Given the description of an element on the screen output the (x, y) to click on. 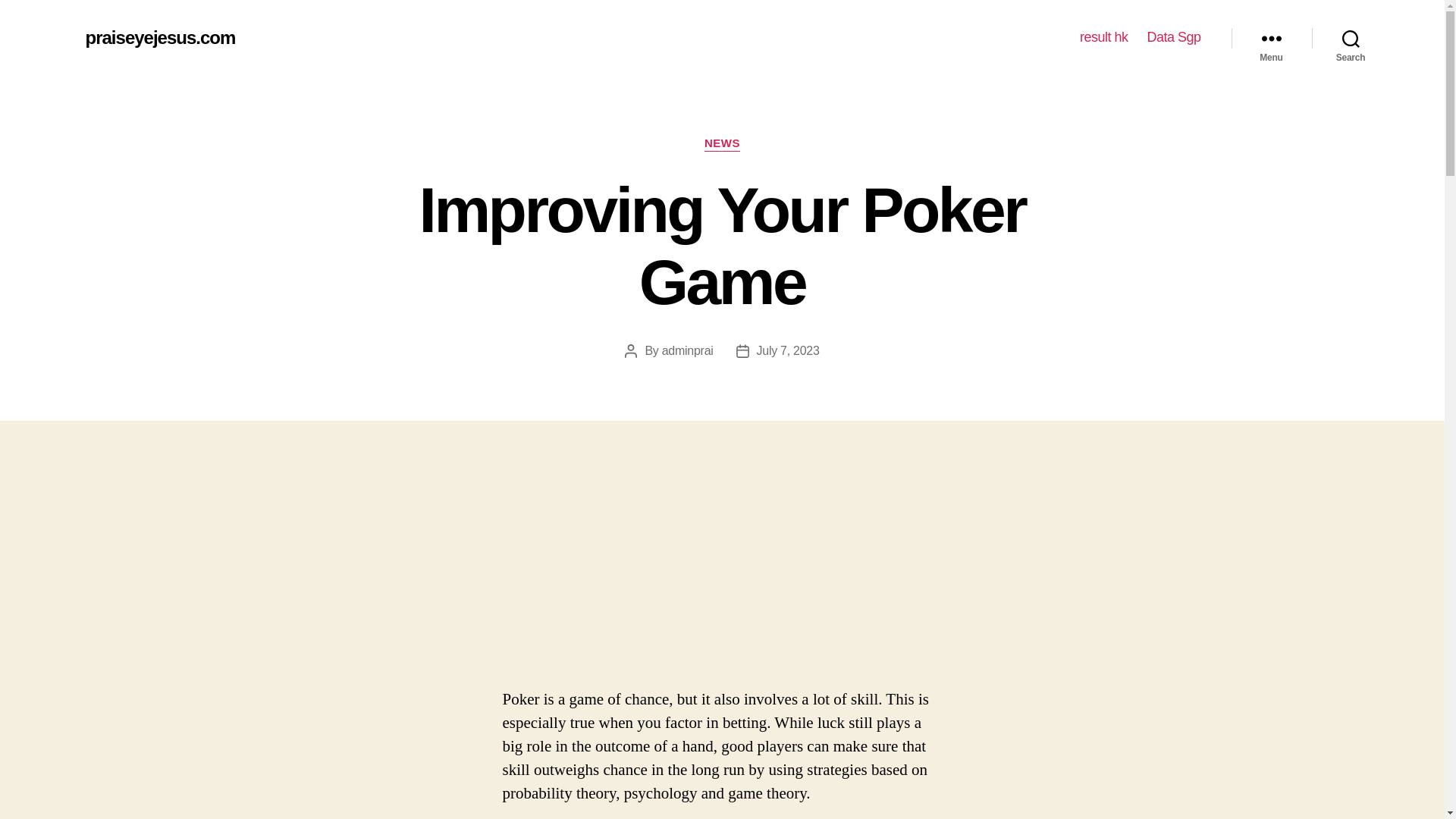
result hk (1104, 37)
July 7, 2023 (788, 350)
Search (1350, 37)
praiseyejesus.com (159, 37)
Menu (1271, 37)
adminprai (687, 350)
Data Sgp (1173, 37)
NEWS (721, 143)
